Given the description of an element on the screen output the (x, y) to click on. 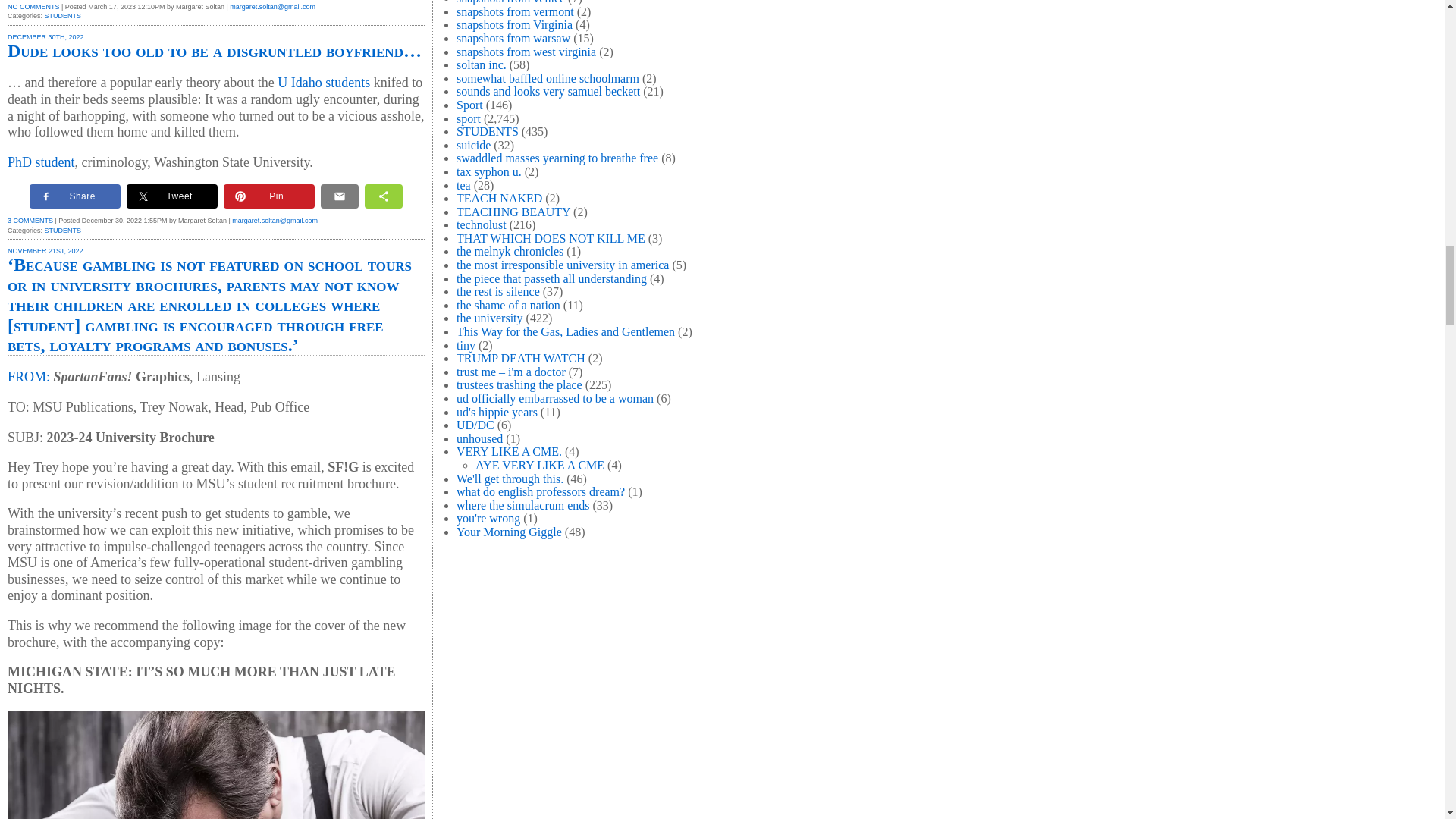
U Idaho students (322, 82)
3 COMMENTS (29, 220)
STUDENTS (63, 15)
DECEMBER 30TH, 2022 (45, 36)
PhD student (41, 161)
NO COMMENTS (33, 6)
